Given the description of an element on the screen output the (x, y) to click on. 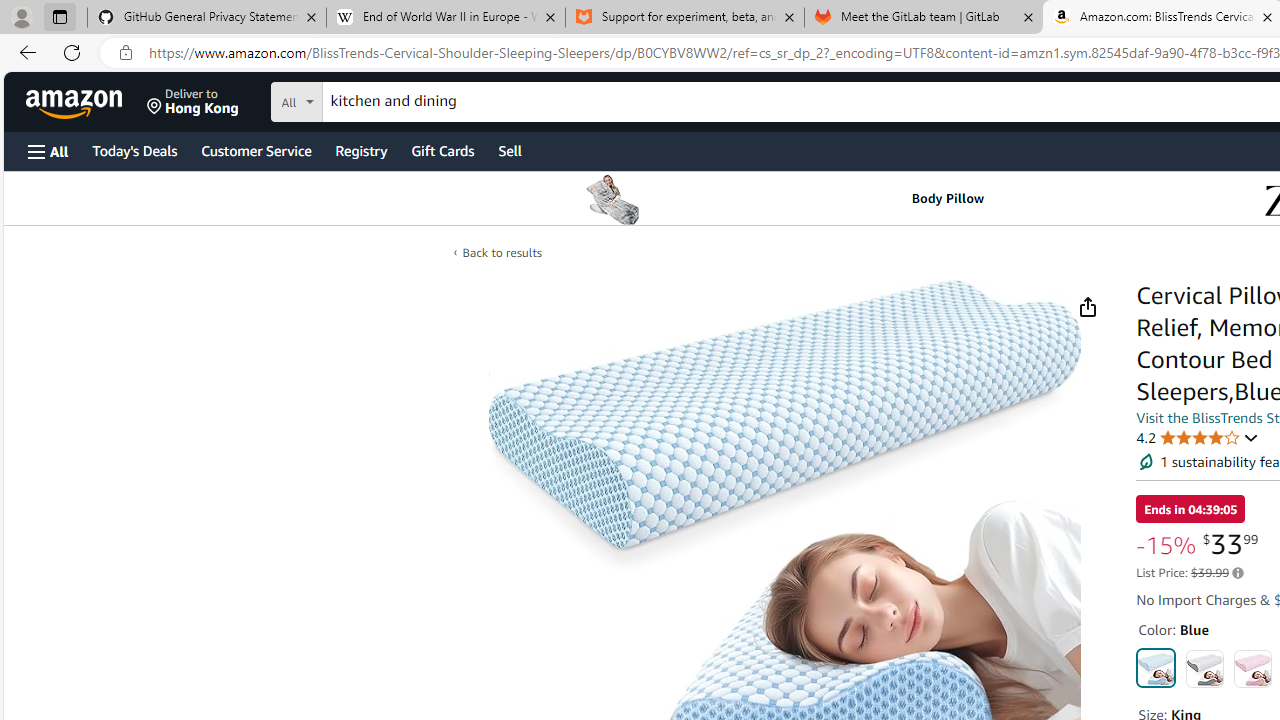
Search in (371, 99)
Pink (1252, 668)
Share (1087, 307)
Sustainability features (1146, 462)
Blue (1156, 668)
Gift Cards (442, 150)
Learn more about Amazon pricing and savings (1238, 573)
Open Menu (48, 151)
Skip to main content (86, 100)
